Given the description of an element on the screen output the (x, y) to click on. 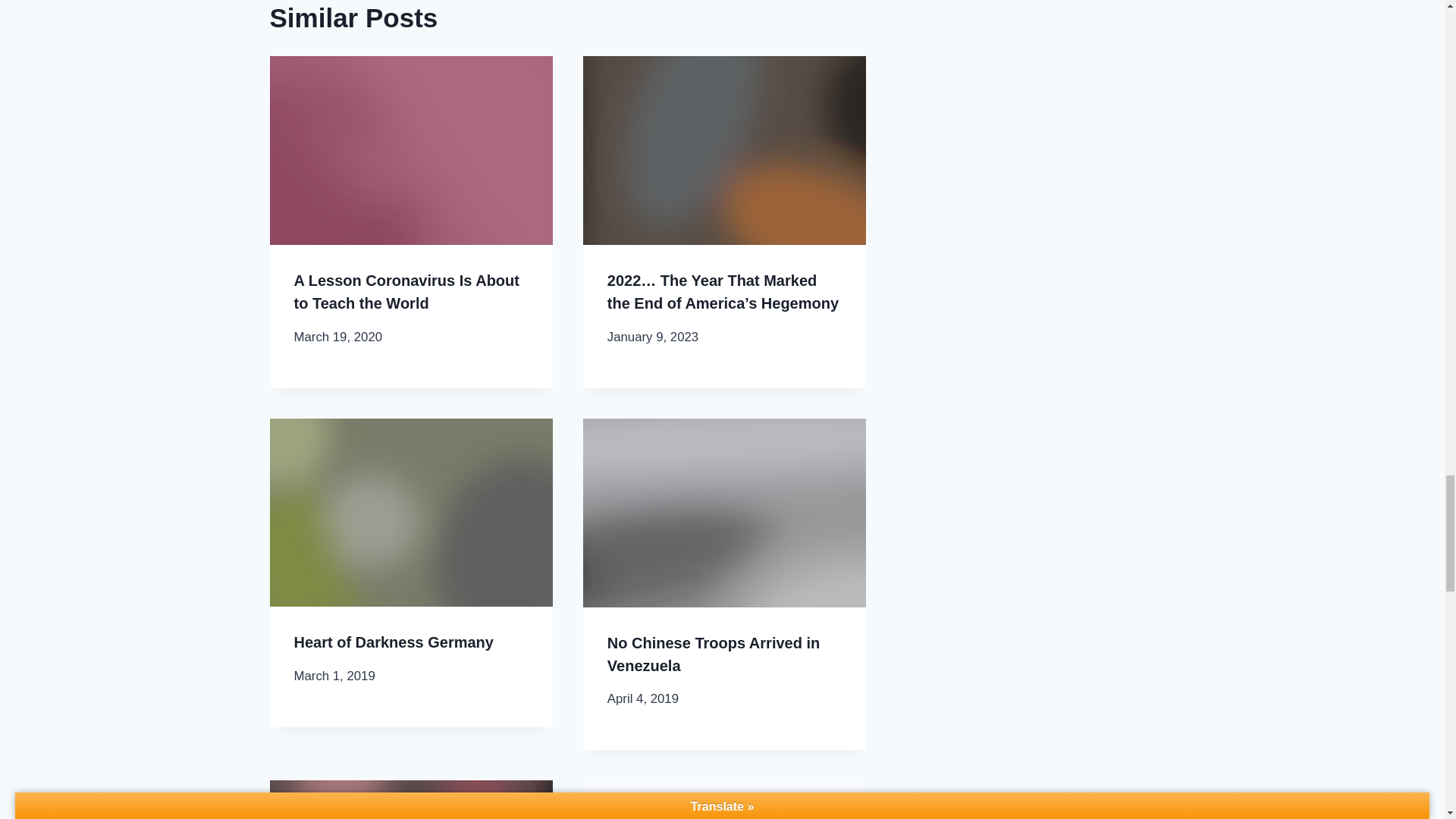
A Lesson Coronavirus Is About to Teach the World (406, 291)
